Given the description of an element on the screen output the (x, y) to click on. 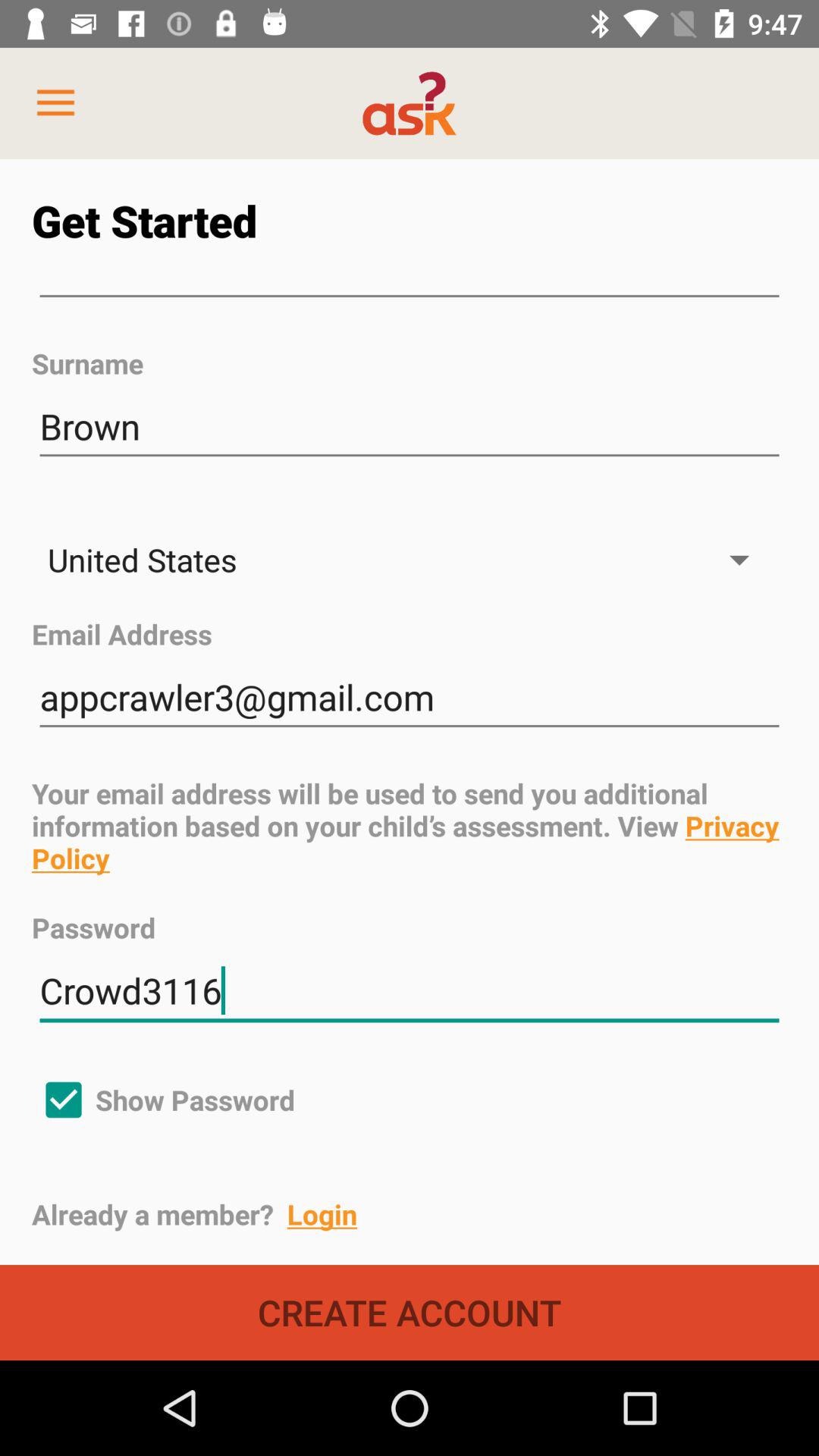
tap the icon below the show password (425, 1214)
